Given the description of an element on the screen output the (x, y) to click on. 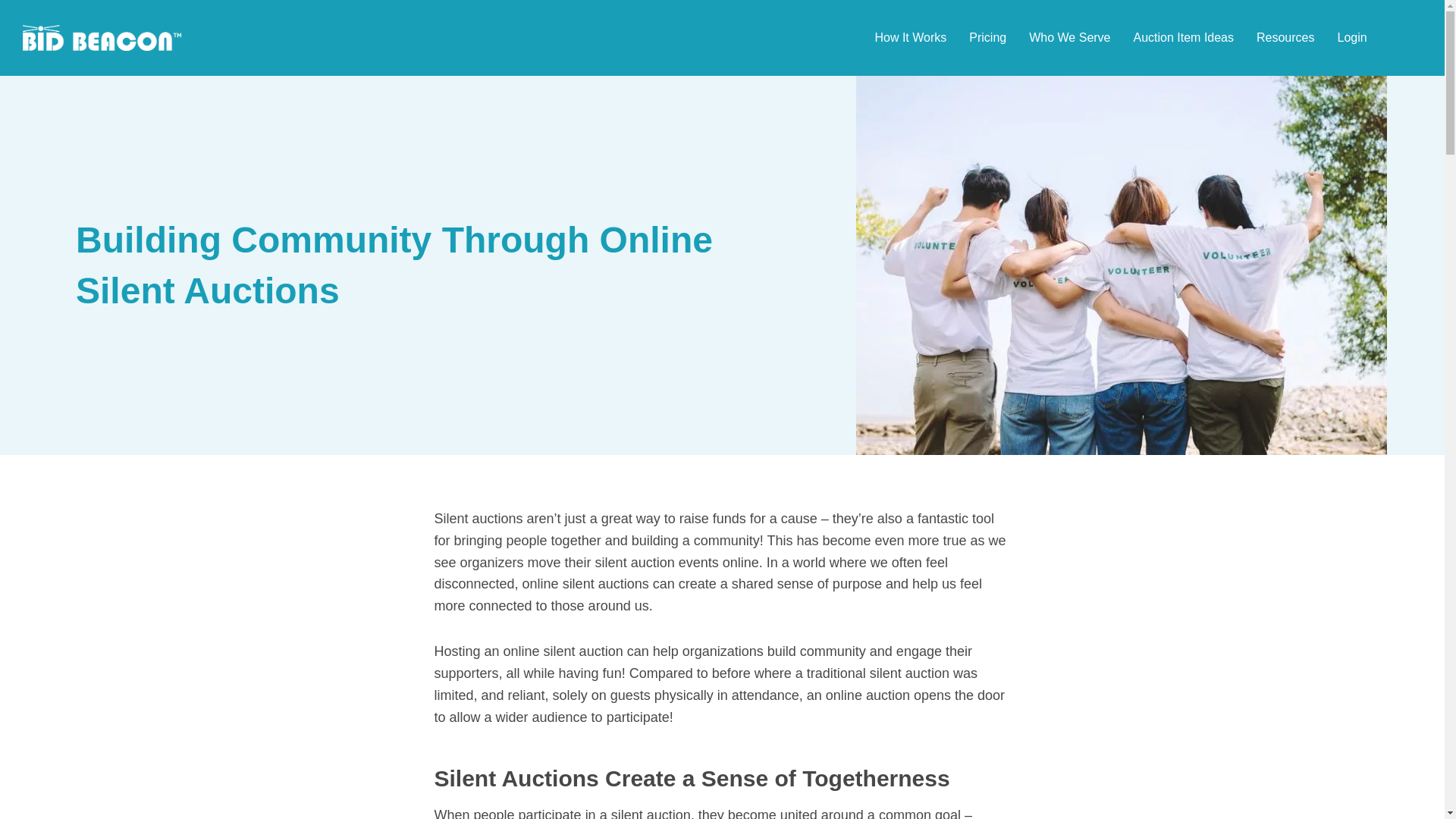
Login (1351, 37)
Auction Item Ideas (1184, 37)
How It Works (910, 37)
Who We Serve (1069, 37)
Resources (1284, 37)
Pricing (987, 37)
